Given the description of an element on the screen output the (x, y) to click on. 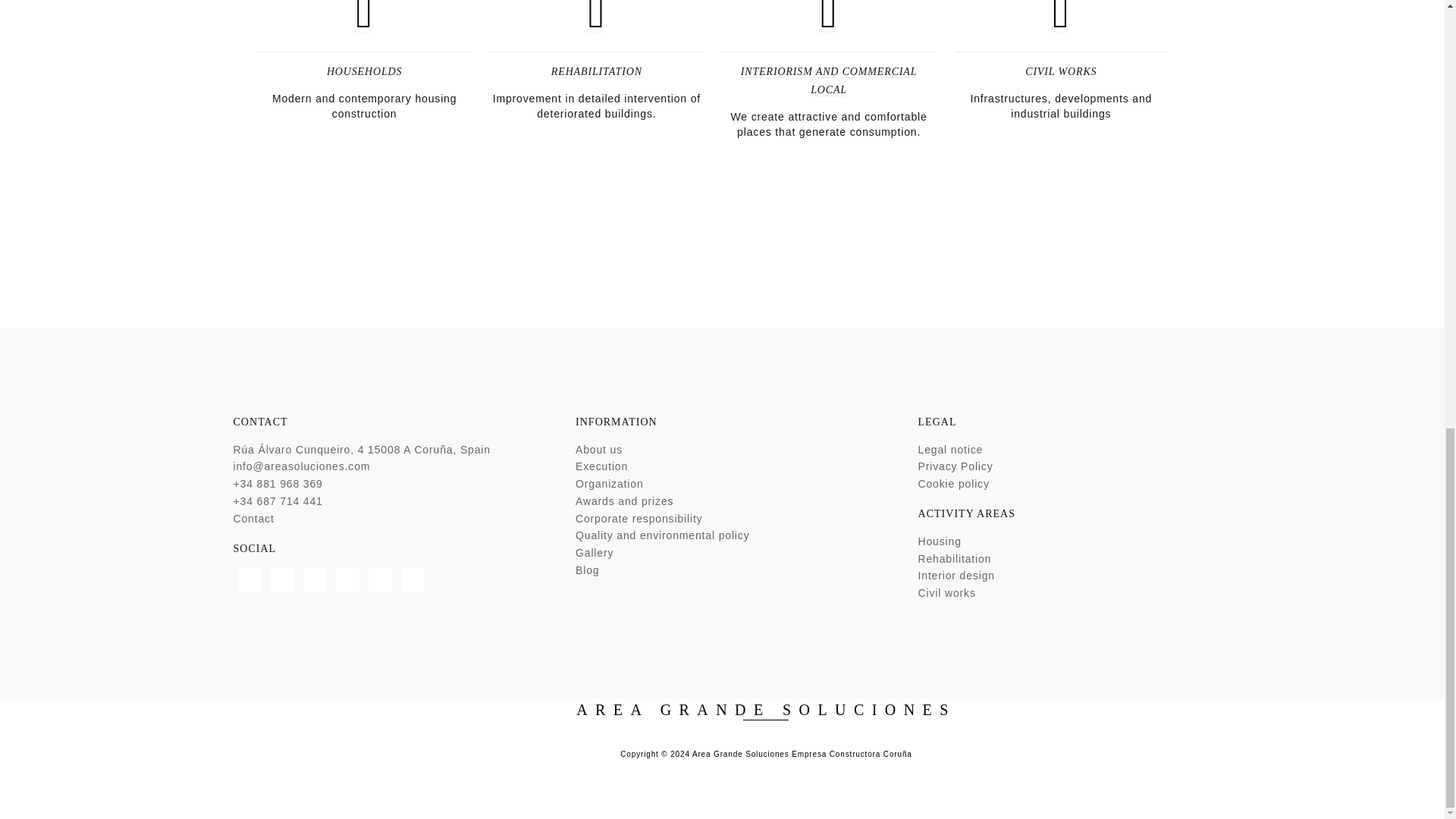
HOUSEHOLDS (364, 71)
INTERIORISM AND COMMERCIAL LOCAL (829, 81)
REHABILITATION (596, 71)
CIVIL WORKS (1060, 71)
